Given the description of an element on the screen output the (x, y) to click on. 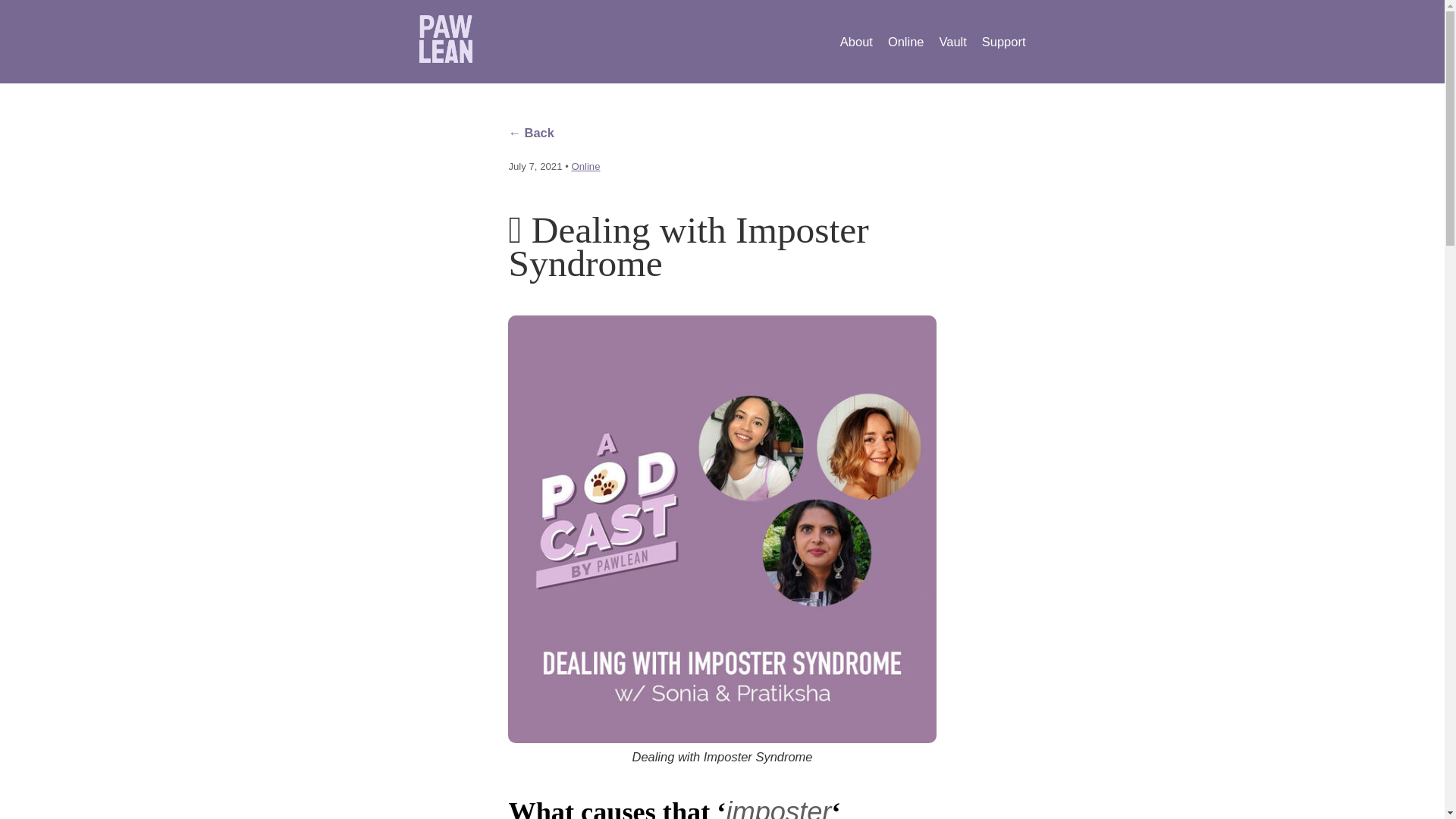
Support (1003, 41)
About (856, 41)
Vault (952, 41)
Online (584, 165)
Online (906, 41)
